Given the description of an element on the screen output the (x, y) to click on. 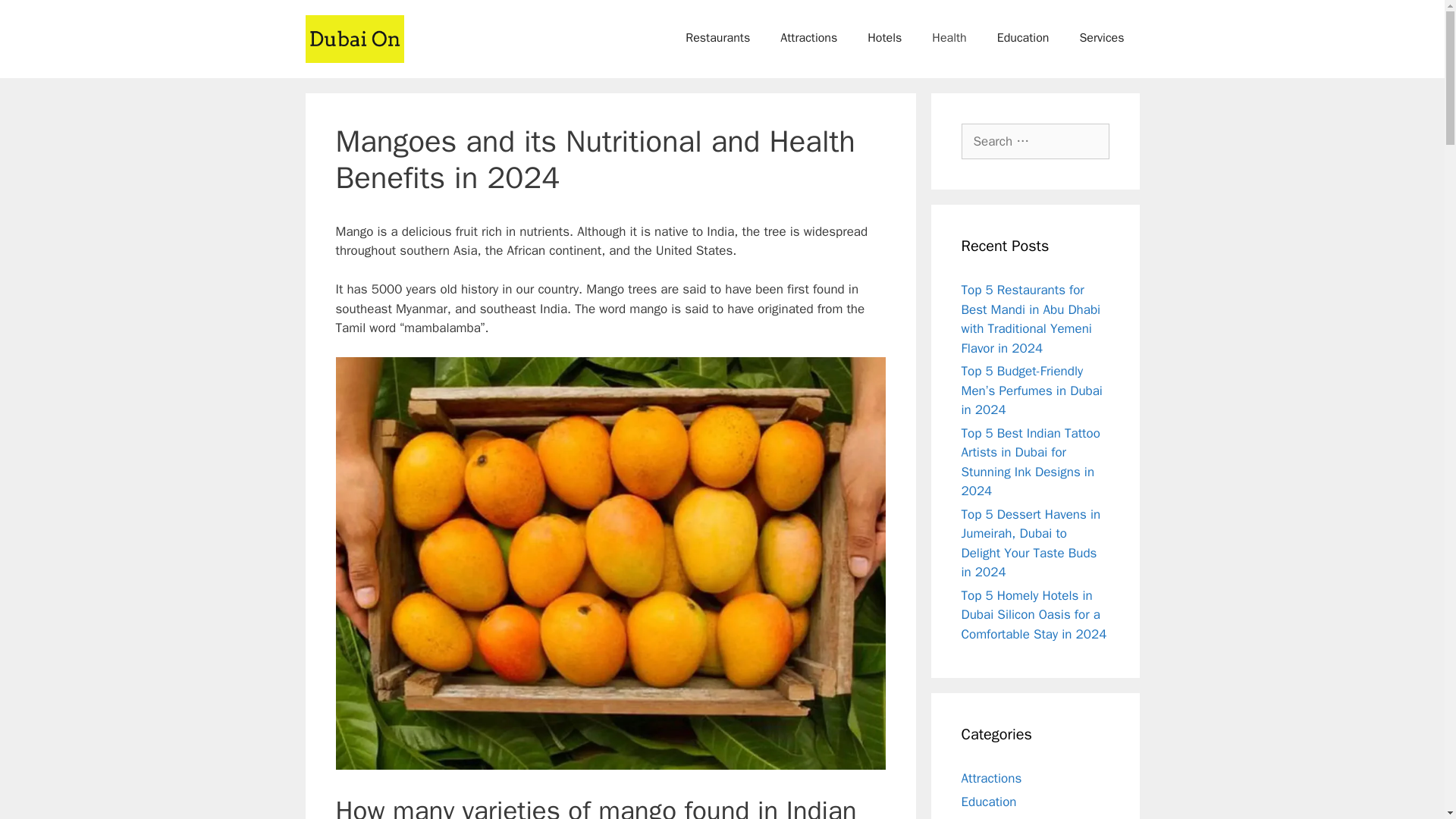
Health (978, 817)
Search (35, 18)
Attractions (808, 37)
Restaurants (717, 37)
Education (1022, 37)
Attractions (991, 778)
Services (1101, 37)
Search for: (1034, 141)
Health (949, 37)
Education (988, 801)
Hotels (884, 37)
